Given the description of an element on the screen output the (x, y) to click on. 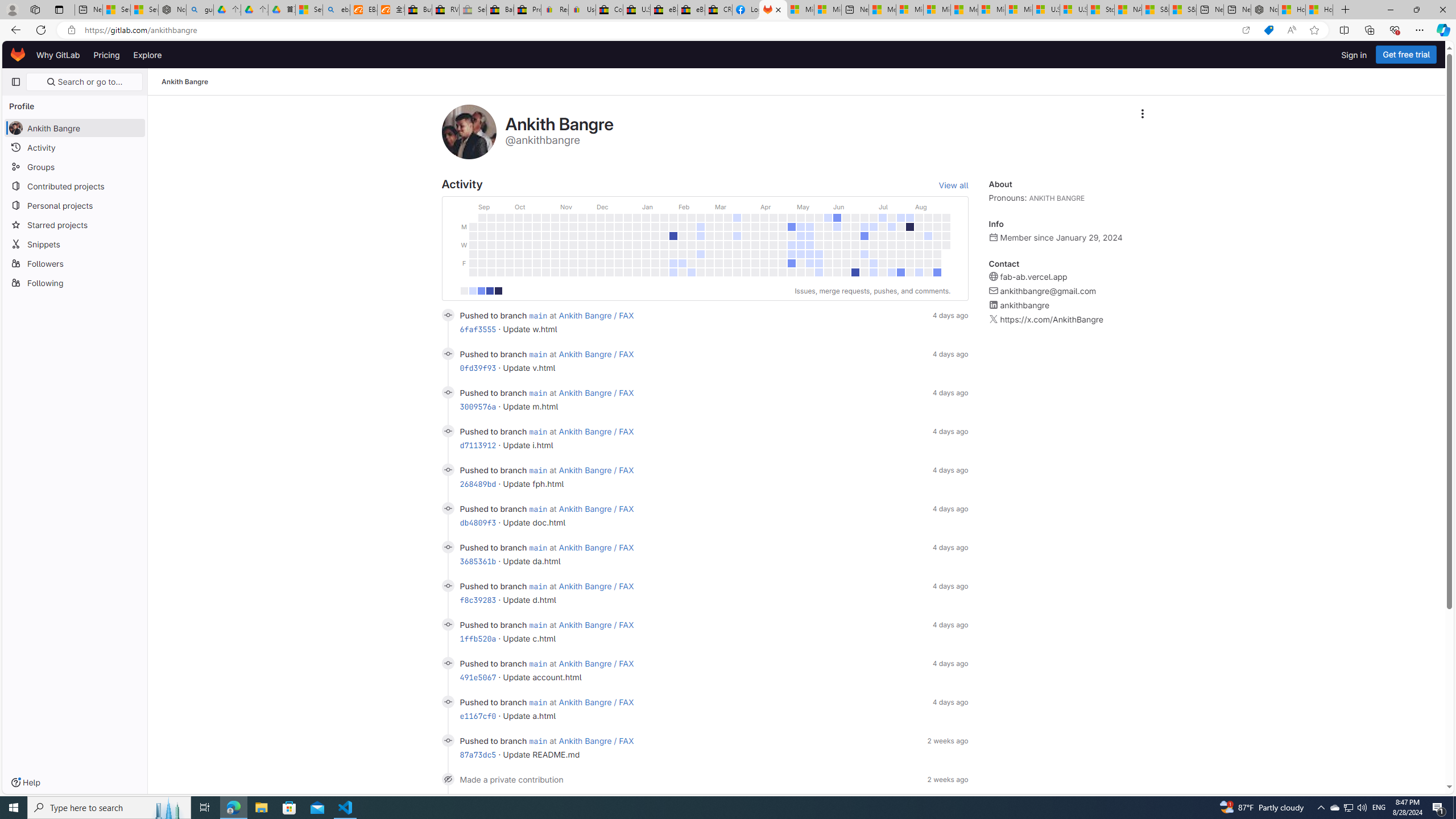
1ffb520a (478, 638)
Help (25, 782)
87a73dc5 (478, 754)
